Given the description of an element on the screen output the (x, y) to click on. 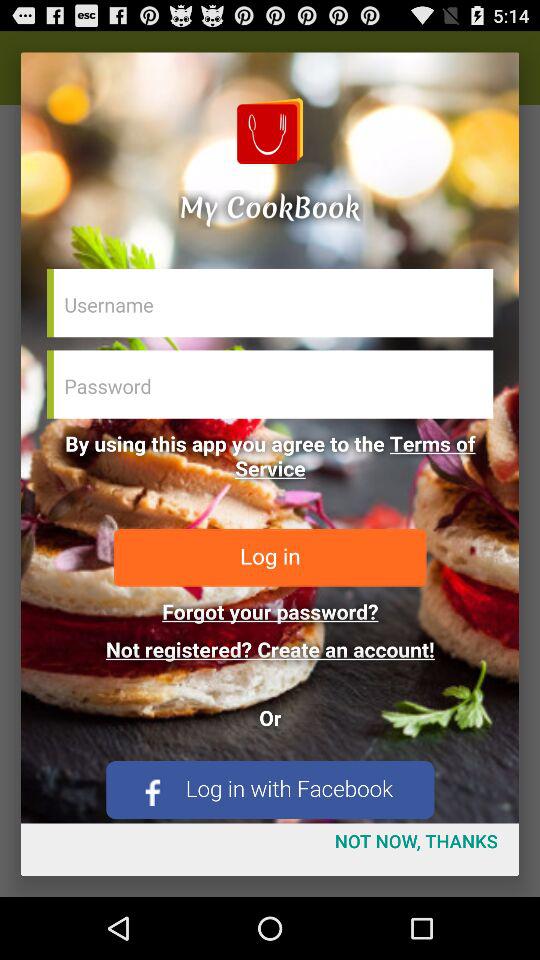
select the cook page (270, 437)
